Given the description of an element on the screen output the (x, y) to click on. 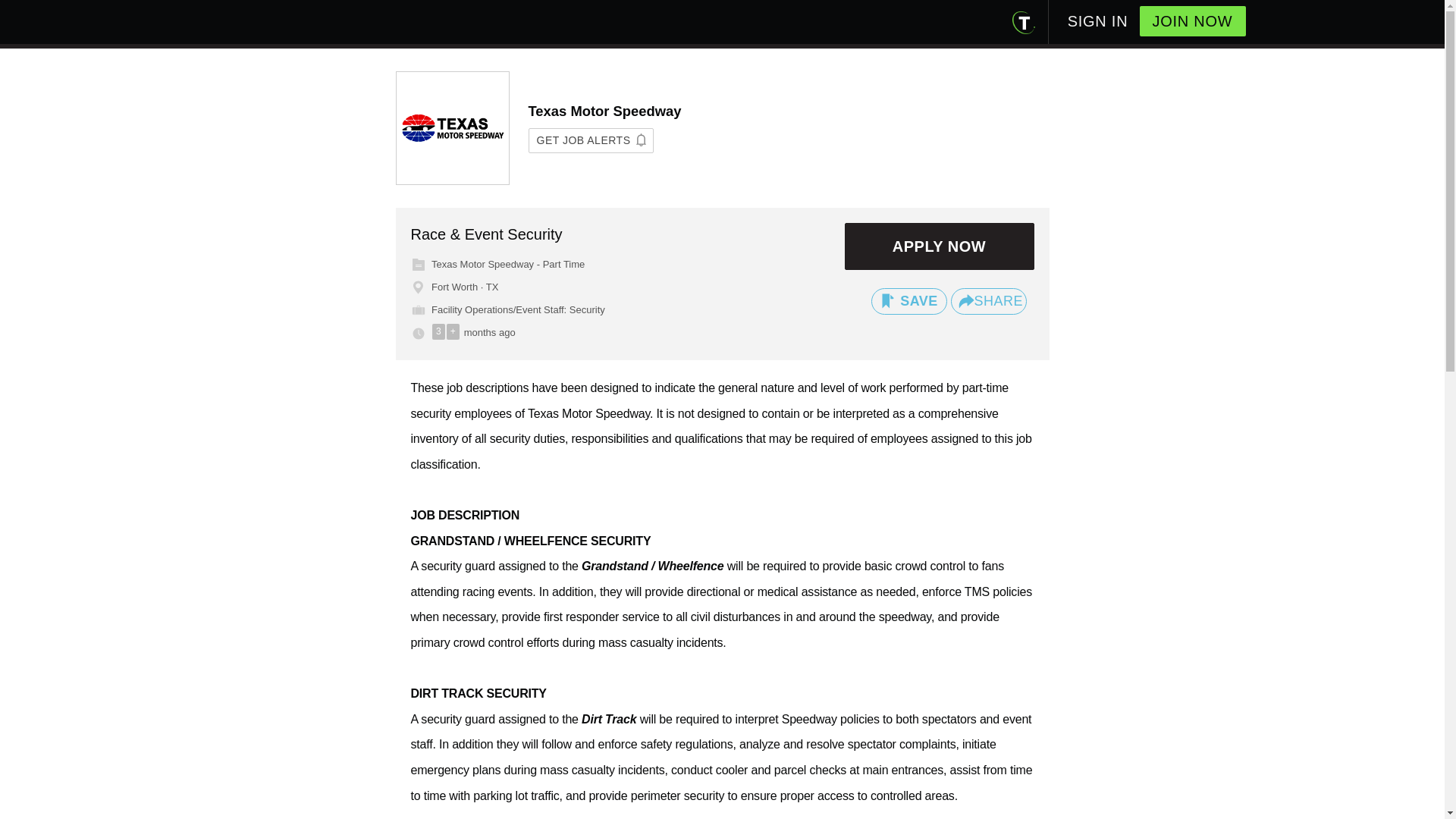
JOIN NOW (1191, 20)
SAVE (908, 301)
SIGN IN (1096, 15)
APPLY NOW (938, 246)
GET JOB ALERTS (590, 140)
